Given the description of an element on the screen output the (x, y) to click on. 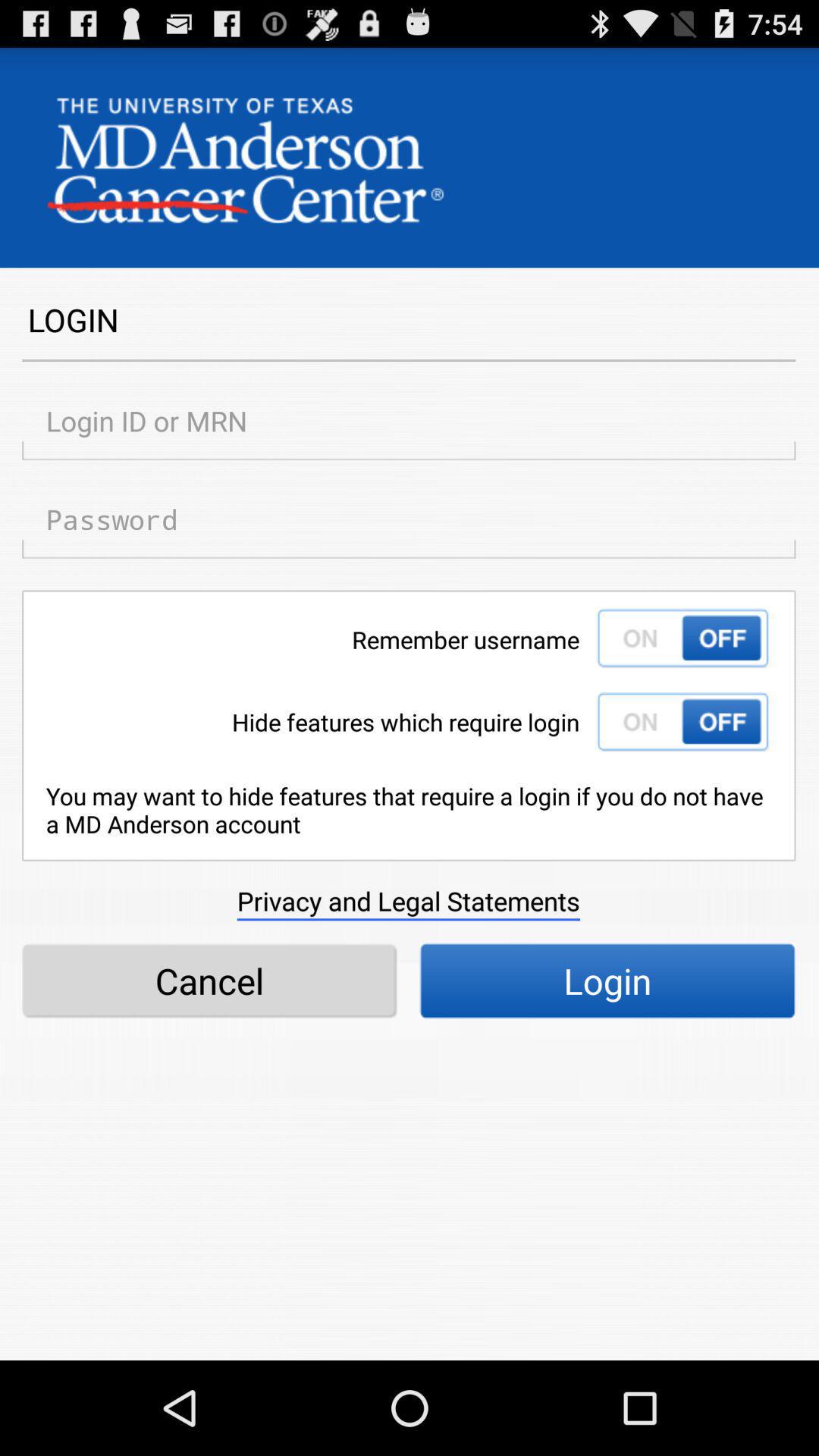
turn on the privacy and legal item (408, 900)
